Given the description of an element on the screen output the (x, y) to click on. 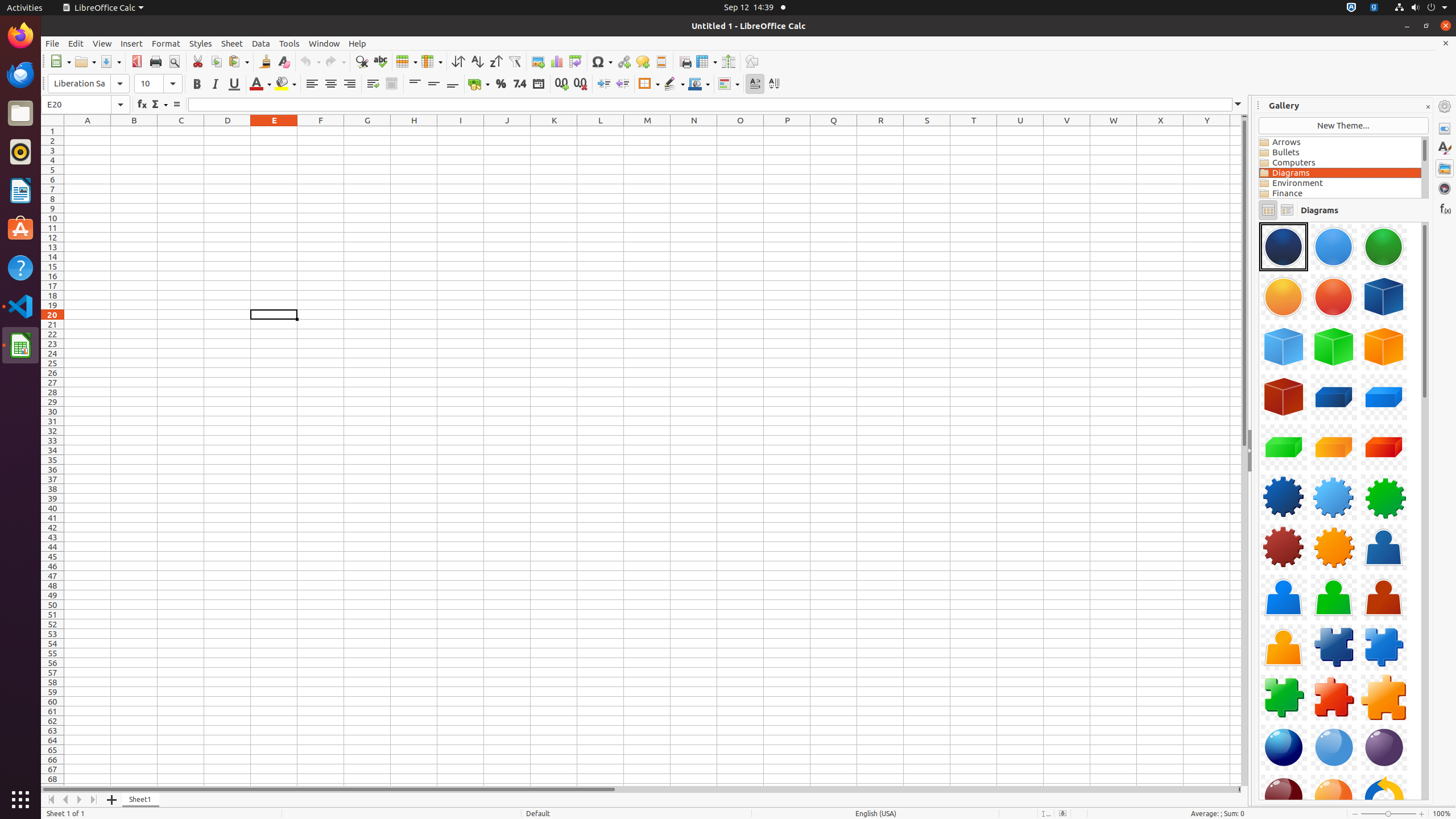
Move Right Element type: push-button (79, 799)
Split Window Element type: push-button (727, 61)
Navigator Element type: radio-button (1444, 188)
Tools Element type: menu (289, 43)
M1 Element type: table-cell (646, 130)
